Given the description of an element on the screen output the (x, y) to click on. 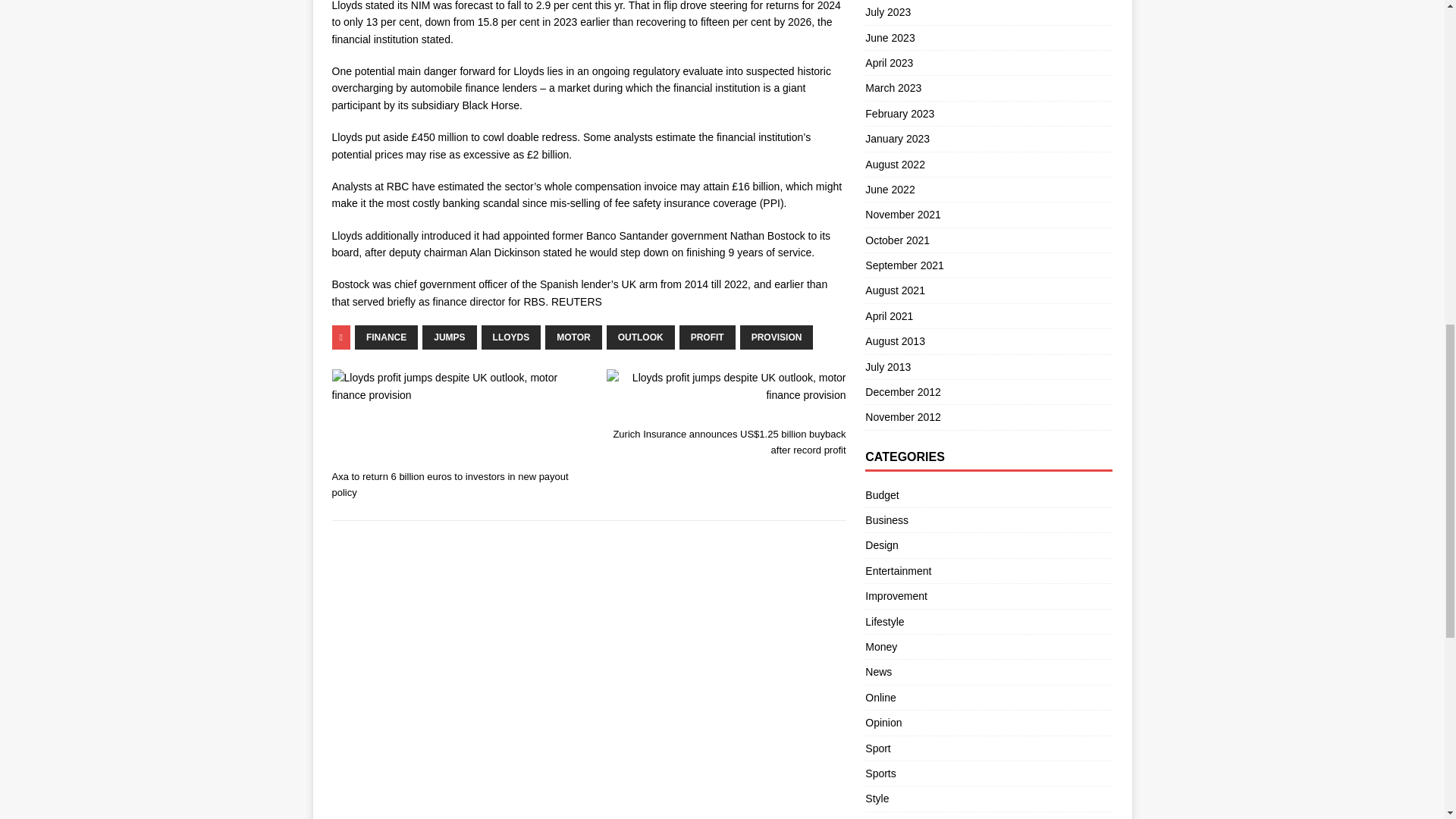
JUMPS (449, 337)
OUTLOOK (641, 337)
PROFIT (707, 337)
MOTOR (572, 337)
FINANCE (386, 337)
LLOYDS (511, 337)
PROVISION (776, 337)
